Given the description of an element on the screen output the (x, y) to click on. 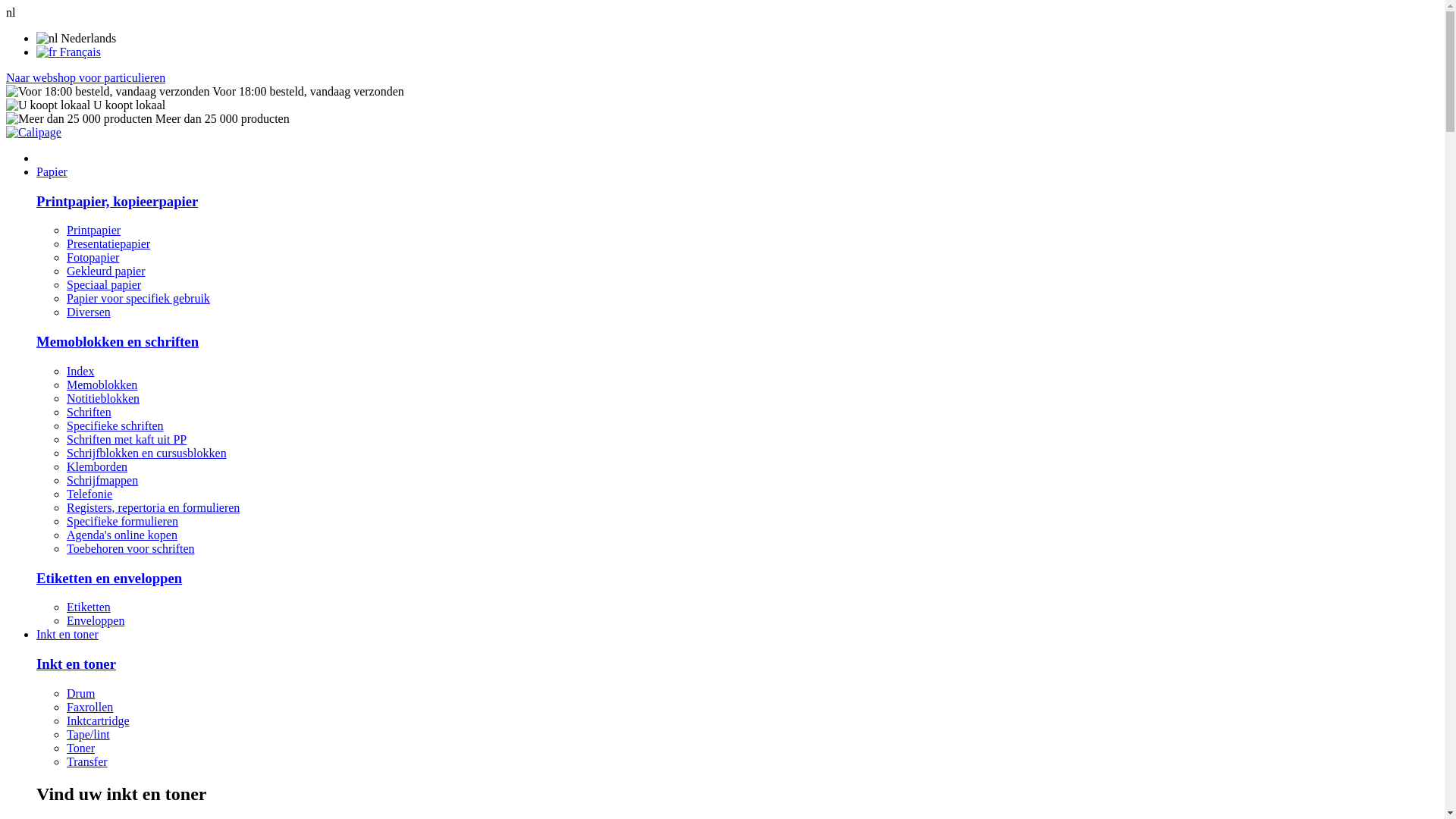
Toebehoren voor schriften Element type: text (130, 548)
Index Element type: text (80, 370)
Specifieke schriften Element type: text (114, 425)
Enveloppen Element type: text (95, 620)
Registers, repertoria en formulieren Element type: text (152, 507)
Speciaal papier Element type: text (103, 284)
Printpapier, kopieerpapier Element type: text (116, 201)
Tape/lint Element type: text (87, 734)
Inkt en toner Element type: text (76, 663)
Naar webshop voor particulieren Element type: text (85, 77)
Diversen Element type: text (88, 311)
Etiketten Element type: text (88, 606)
Memoblokken en schriften Element type: text (117, 341)
Agenda's online kopen Element type: text (121, 534)
Drum Element type: text (80, 693)
Toner Element type: text (80, 747)
Papier Element type: text (51, 171)
Memoblokken Element type: text (101, 384)
Faxrollen Element type: text (89, 706)
Inktcartridge Element type: text (97, 720)
Notitieblokken Element type: text (102, 398)
Schrijfblokken en cursusblokken Element type: text (146, 452)
Fotopapier Element type: text (92, 257)
Inkt en toner Element type: text (67, 633)
Etiketten en enveloppen Element type: text (109, 578)
Schriften Element type: text (88, 411)
Printpapier Element type: text (93, 229)
Schriften met kaft uit PP Element type: text (126, 439)
Schrijfmappen Element type: text (102, 479)
Specifieke formulieren Element type: text (122, 520)
Transfer Element type: text (86, 761)
Gekleurd papier Element type: text (105, 270)
Telefonie Element type: text (89, 493)
Calipage Element type: hover (33, 131)
Presentatiepapier Element type: text (108, 243)
Papier voor specifiek gebruik Element type: text (138, 297)
Klemborden Element type: text (96, 466)
